Given the description of an element on the screen output the (x, y) to click on. 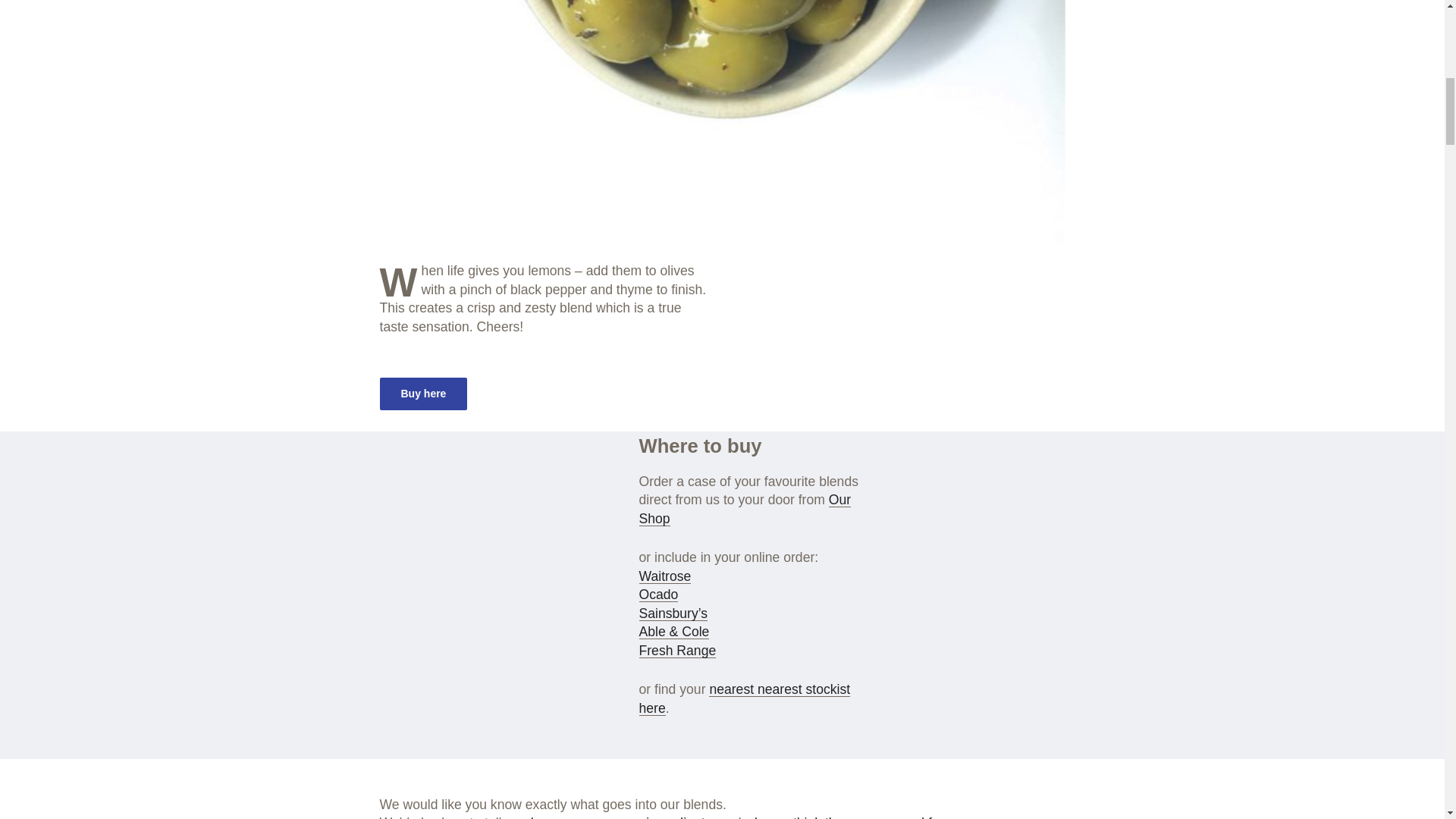
Buy here (422, 393)
Waitrose (664, 575)
Ocado (658, 594)
Our Shop (744, 509)
